Given the description of an element on the screen output the (x, y) to click on. 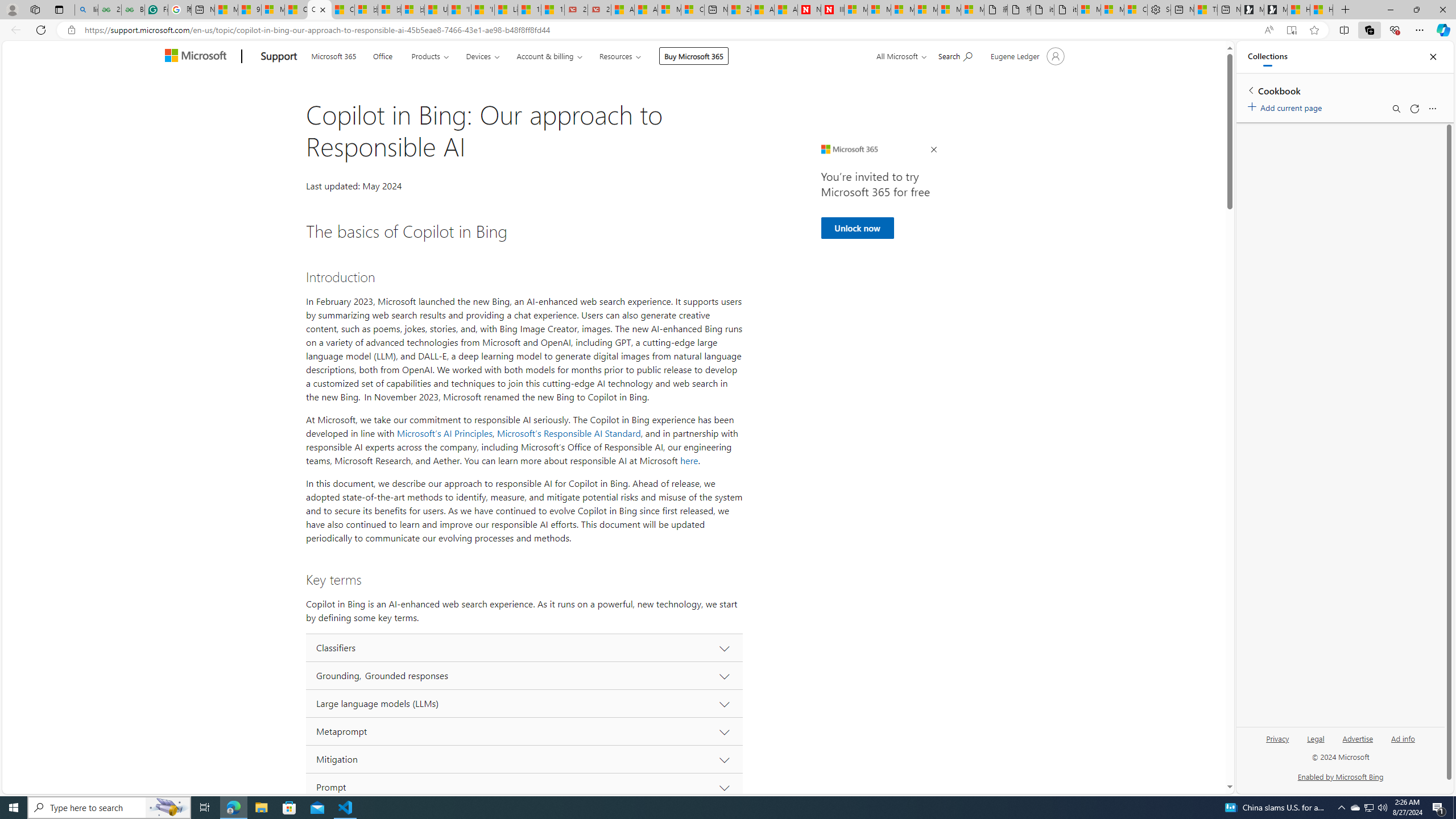
Office (382, 54)
How to Use a TV as a Computer Monitor (1321, 9)
Illness news & latest pictures from Newsweek.com (832, 9)
